Given the description of an element on the screen output the (x, y) to click on. 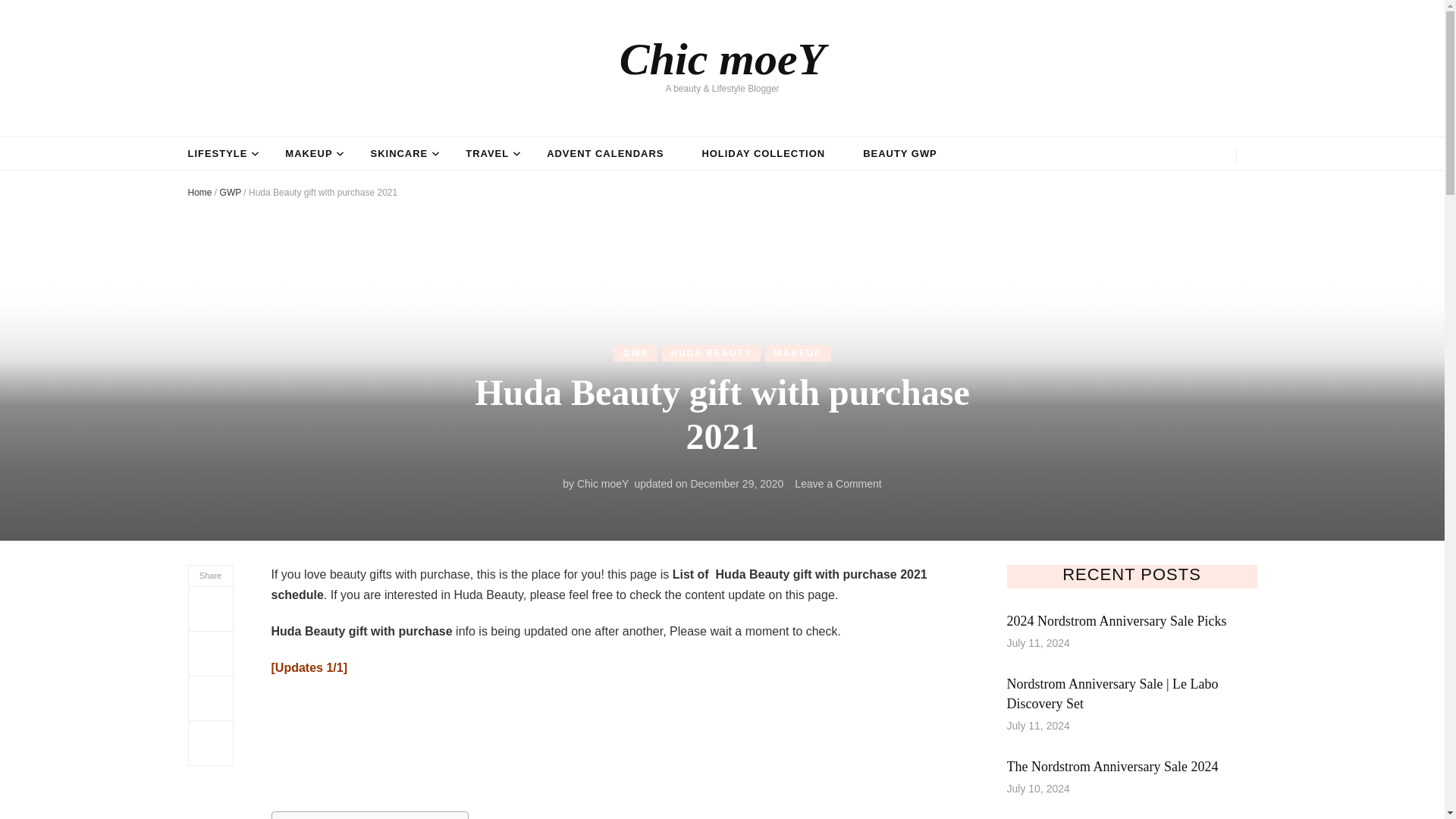
December 29, 2020 (736, 483)
GWP (230, 192)
SKINCARE (399, 154)
Chic moeY (602, 483)
HOLIDAY COLLECTION (763, 154)
TRAVEL (486, 154)
Home (199, 192)
LIFESTYLE (217, 154)
ADVENT CALENDARS (837, 483)
BEAUTY GWP (605, 154)
MAKEUP (900, 154)
Chic moeY (308, 154)
MAKEUP (722, 59)
HUDA BEAUTY (798, 352)
